Given the description of an element on the screen output the (x, y) to click on. 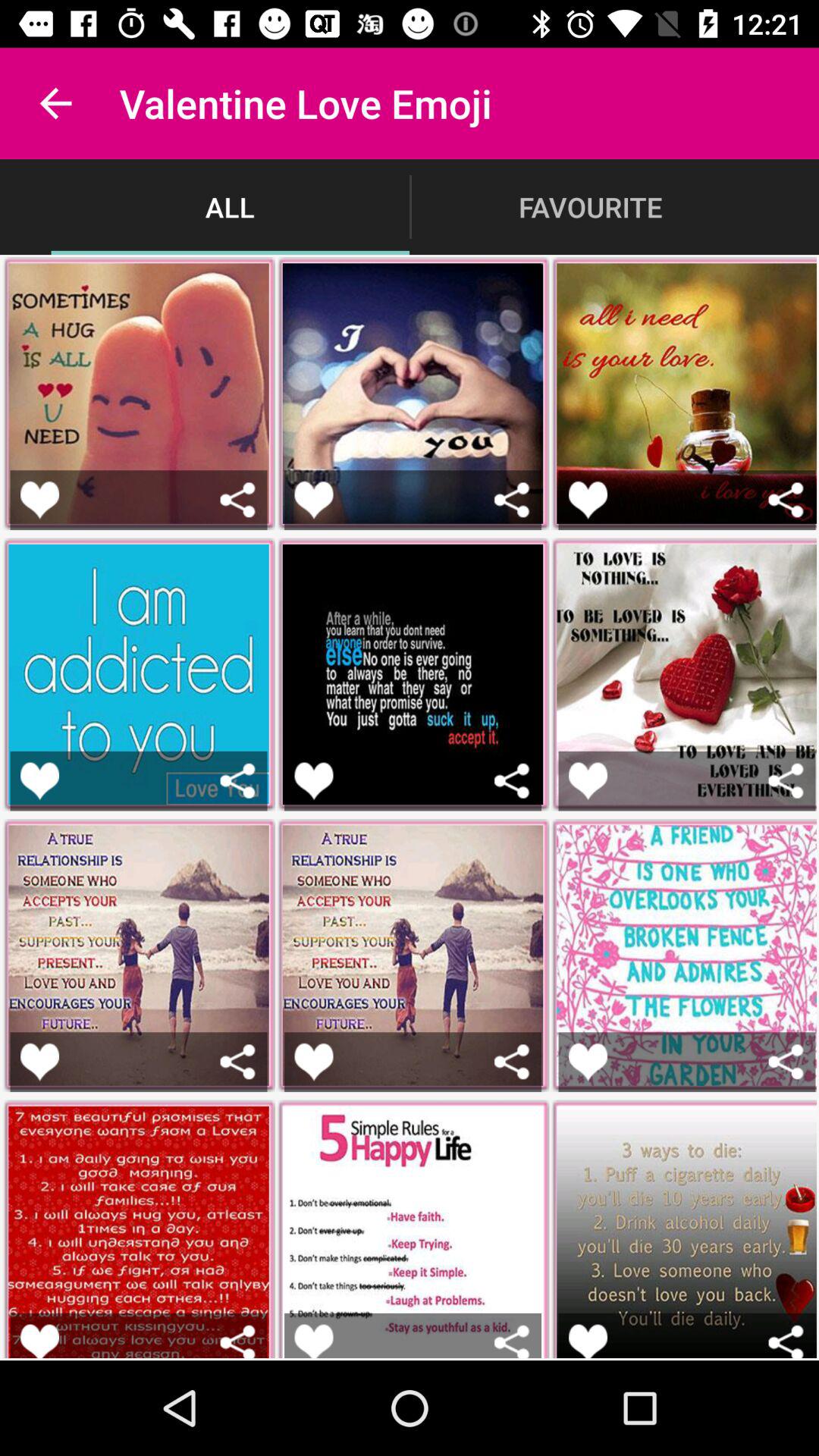
share the emoji (785, 1061)
